Given the description of an element on the screen output the (x, y) to click on. 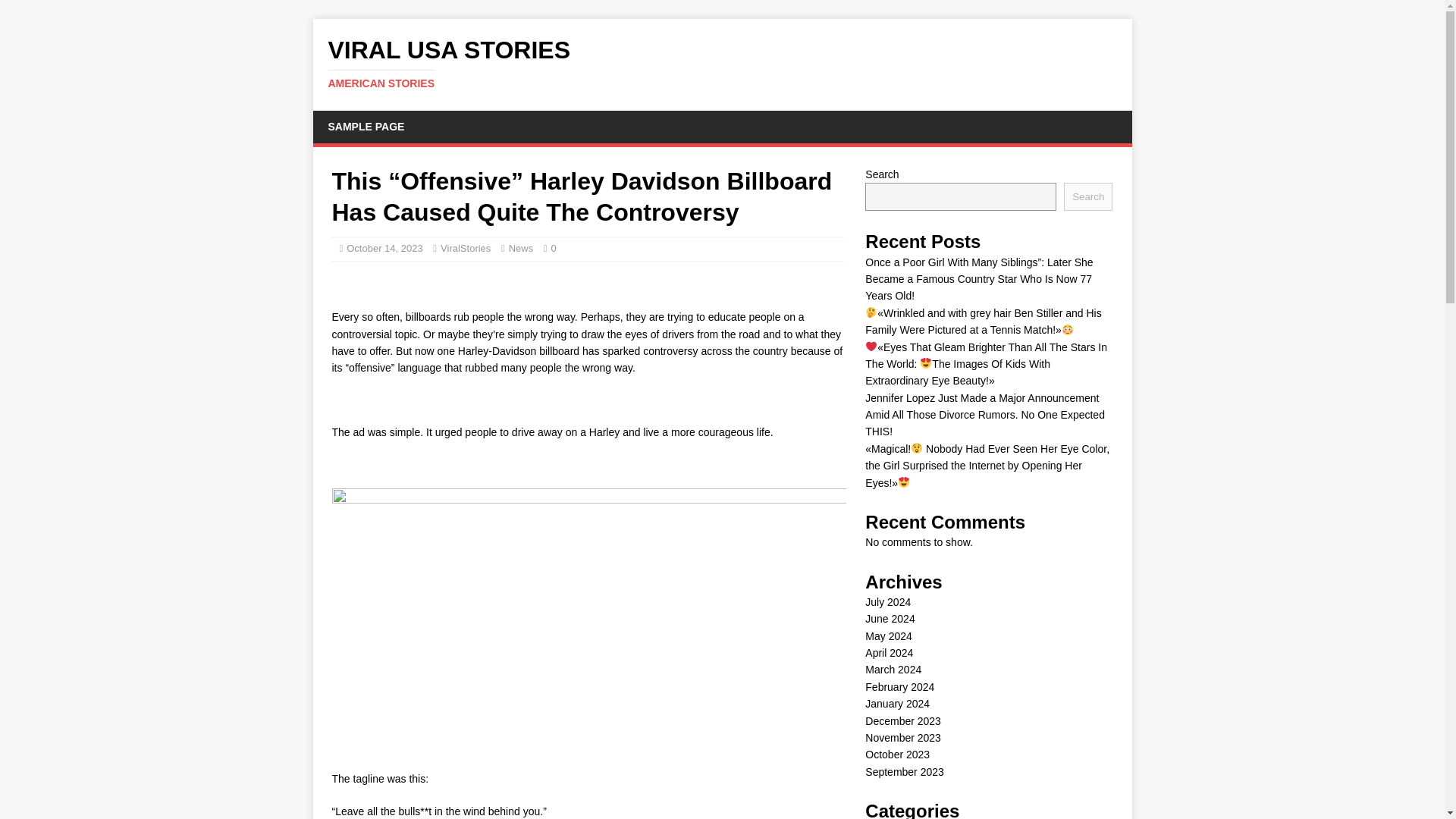
News (521, 247)
January 2024 (897, 703)
Viral Usa Stories (721, 63)
October 2023 (721, 63)
July 2024 (897, 754)
December 2023 (887, 602)
ViralStories (902, 720)
September 2023 (465, 247)
